Given the description of an element on the screen output the (x, y) to click on. 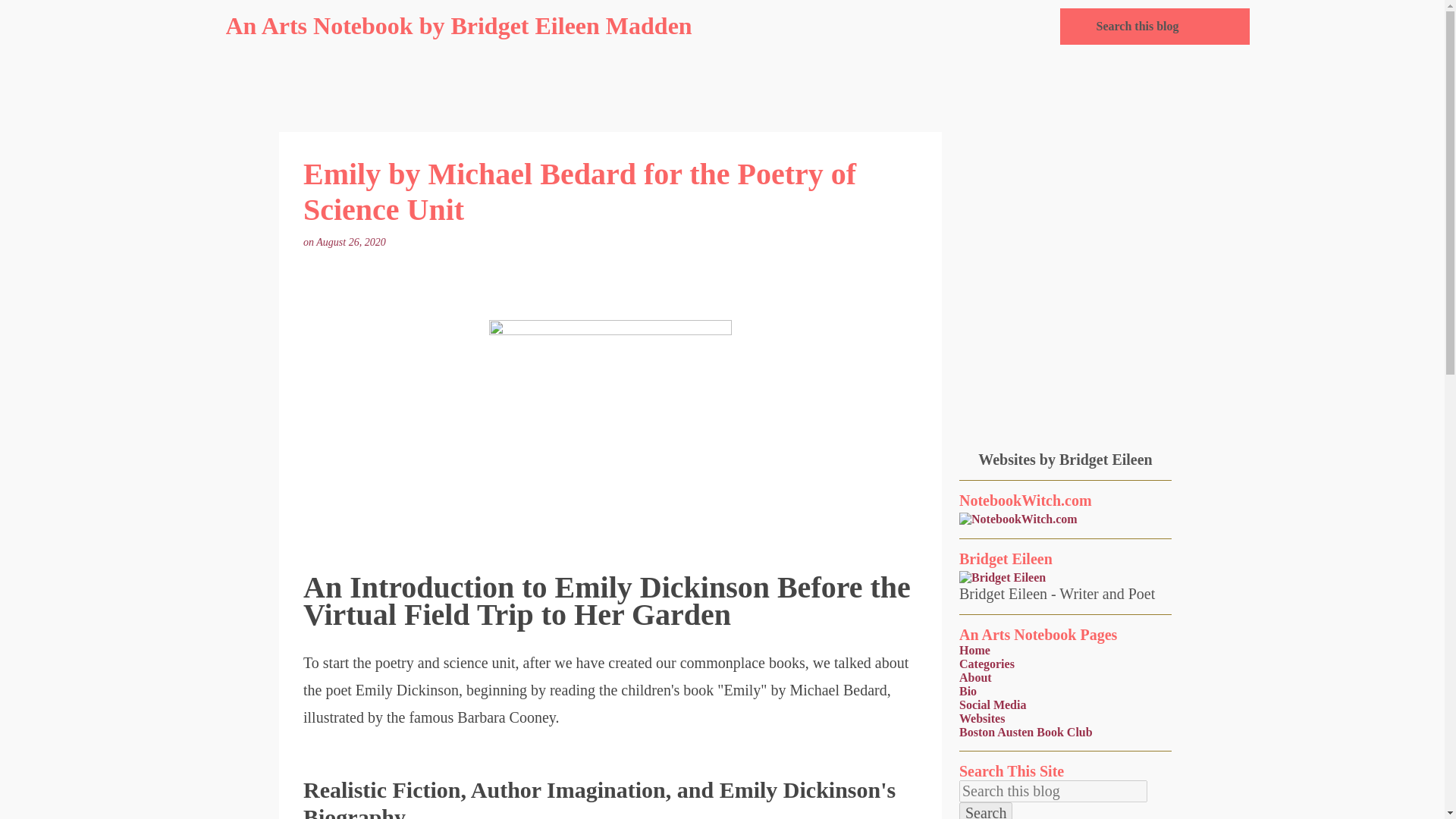
Home (974, 649)
Websites (981, 717)
permanent link (351, 242)
Categories (986, 663)
About (975, 676)
Search (985, 810)
An Arts Notebook by Bridget Eileen Madden (459, 25)
Social Media (992, 704)
Email Post (397, 242)
Bio (967, 690)
